Given the description of an element on the screen output the (x, y) to click on. 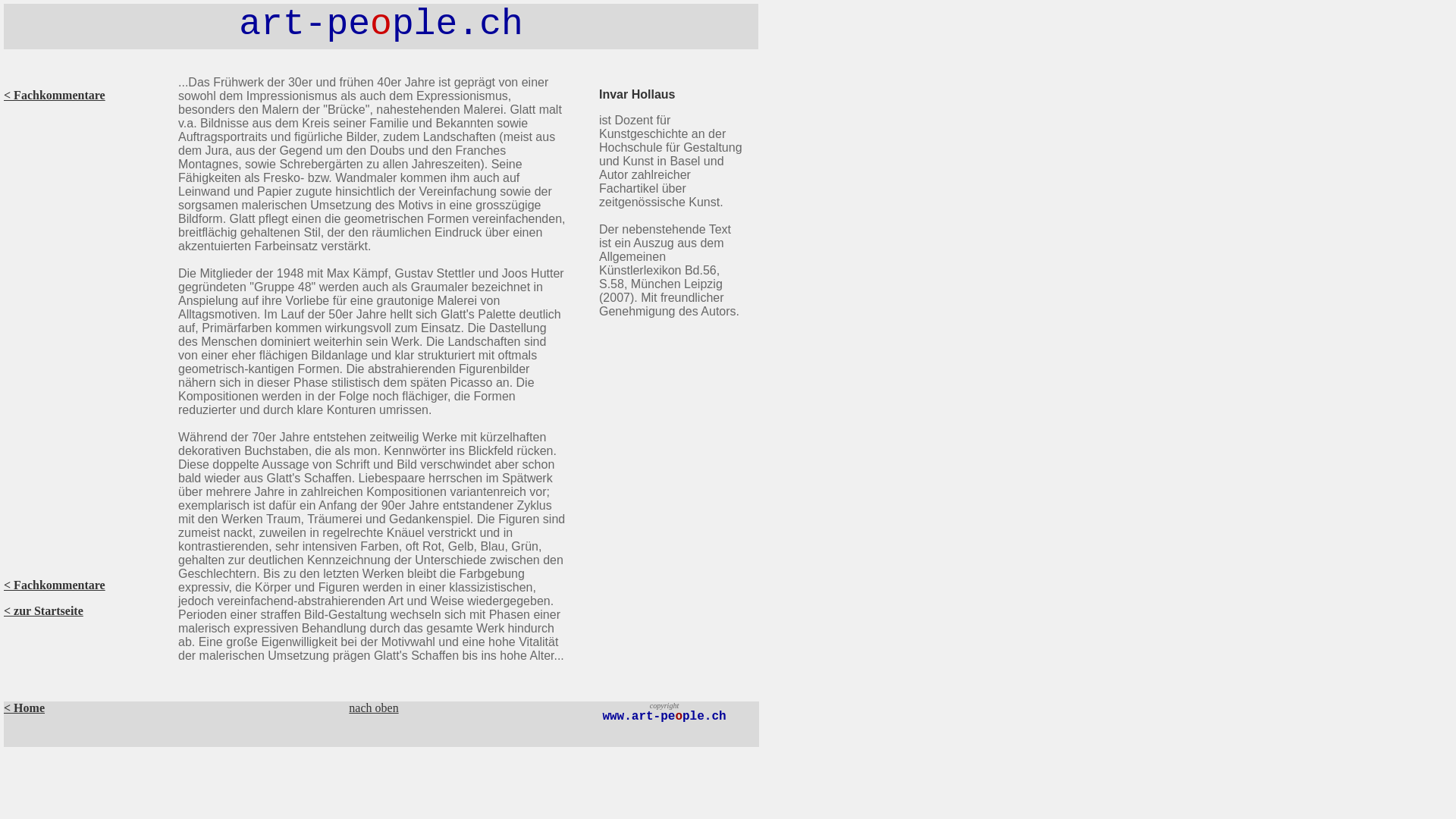
art-pe Element type: text (304, 23)
< Fachkommentare Element type: text (54, 584)
< Fachkommentare Element type: text (54, 94)
< zur Startseite Element type: text (43, 610)
< Home Element type: text (23, 707)
nach oben Element type: text (373, 707)
